Given the description of an element on the screen output the (x, y) to click on. 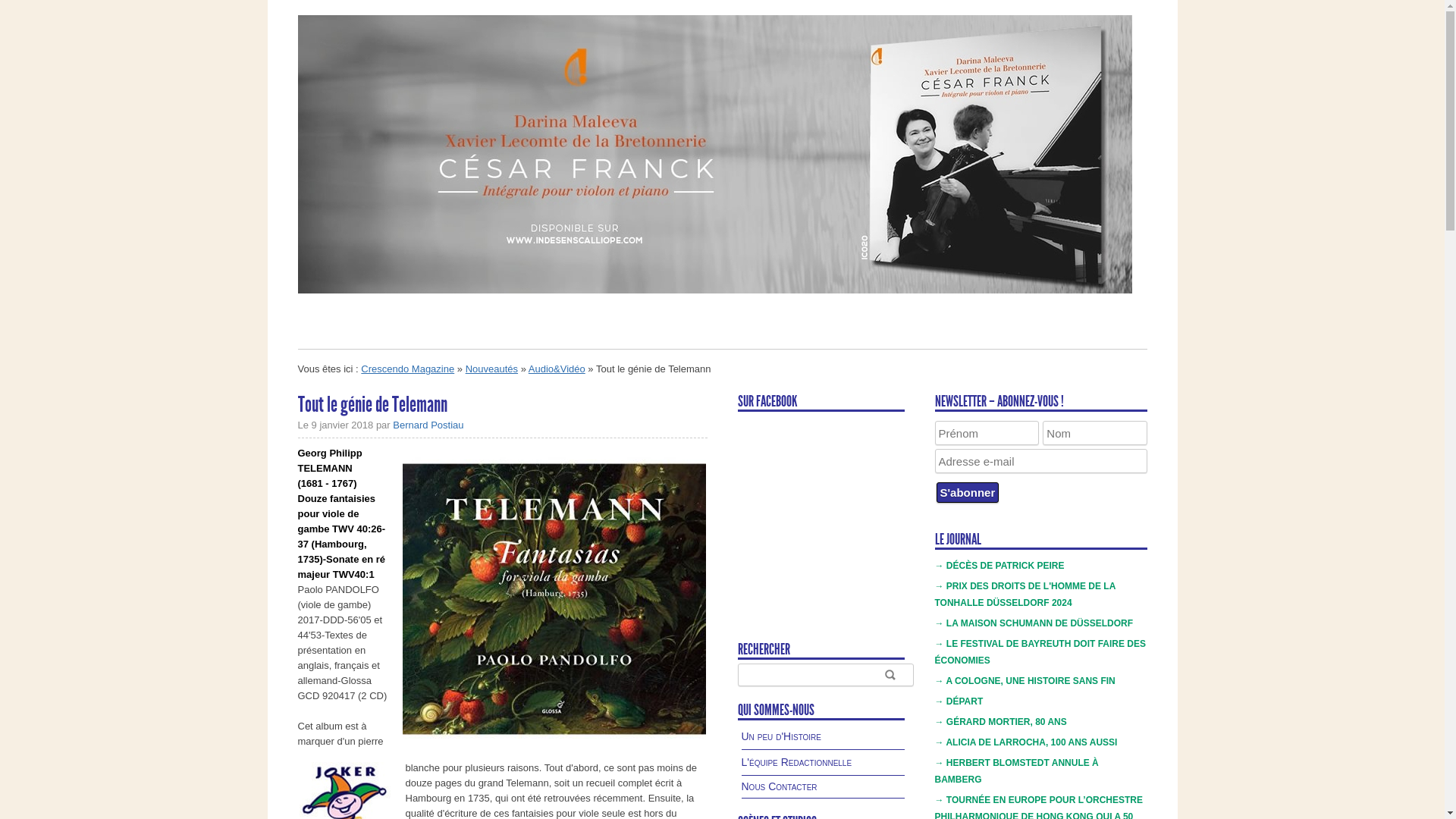
Bernard Postiau Element type: text (427, 424)
Nous Contacter Element type: text (779, 786)
S'abonner Element type: text (966, 492)
Un peu d'Histoire Element type: text (781, 736)
Rechercher Element type: text (889, 674)
Crescendo Magazine Element type: text (407, 368)
